Given the description of an element on the screen output the (x, y) to click on. 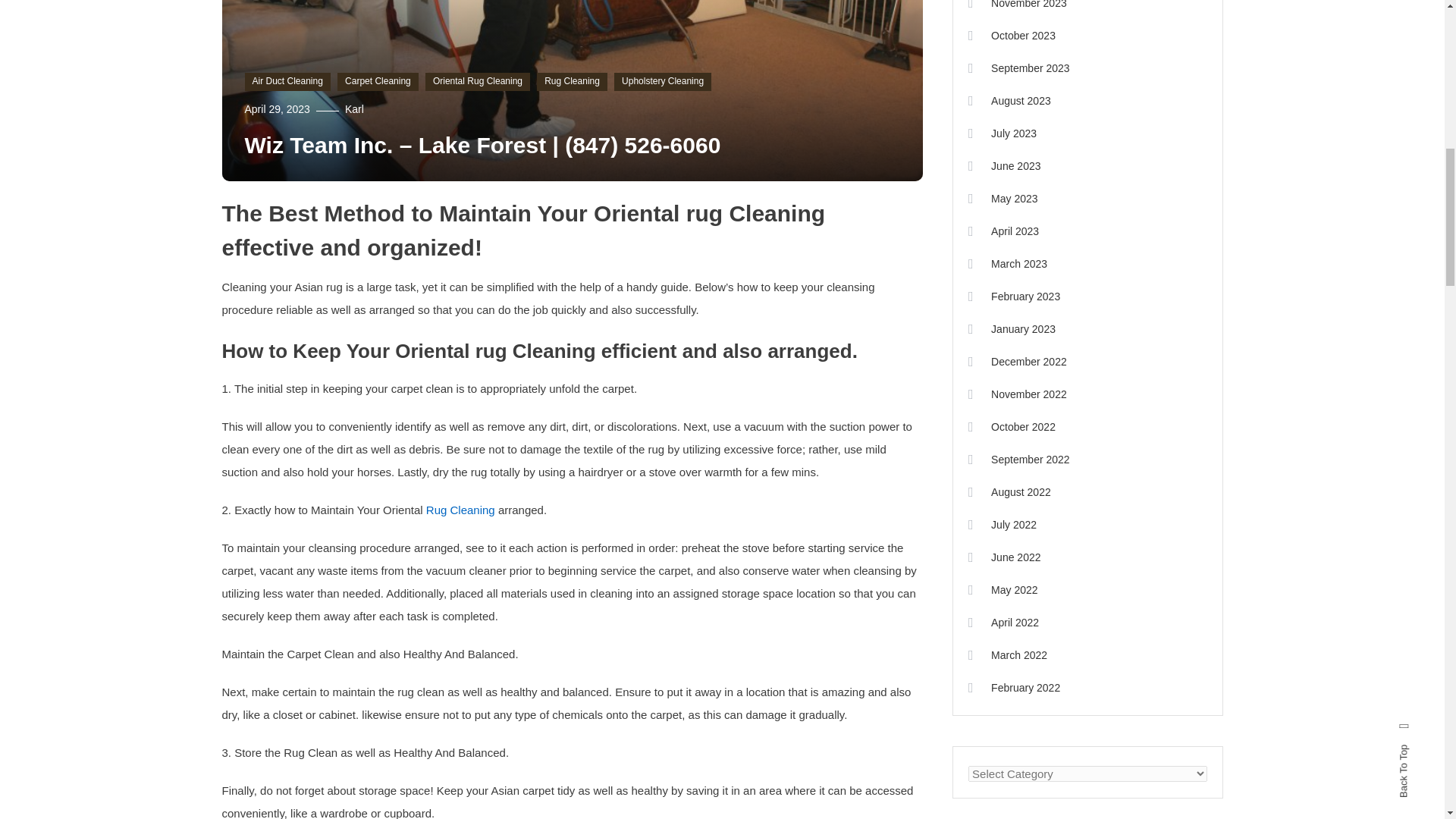
Air Duct Cleaning (287, 81)
Carpet Cleaning (378, 81)
Oriental Rug Cleaning (477, 81)
